Given the description of an element on the screen output the (x, y) to click on. 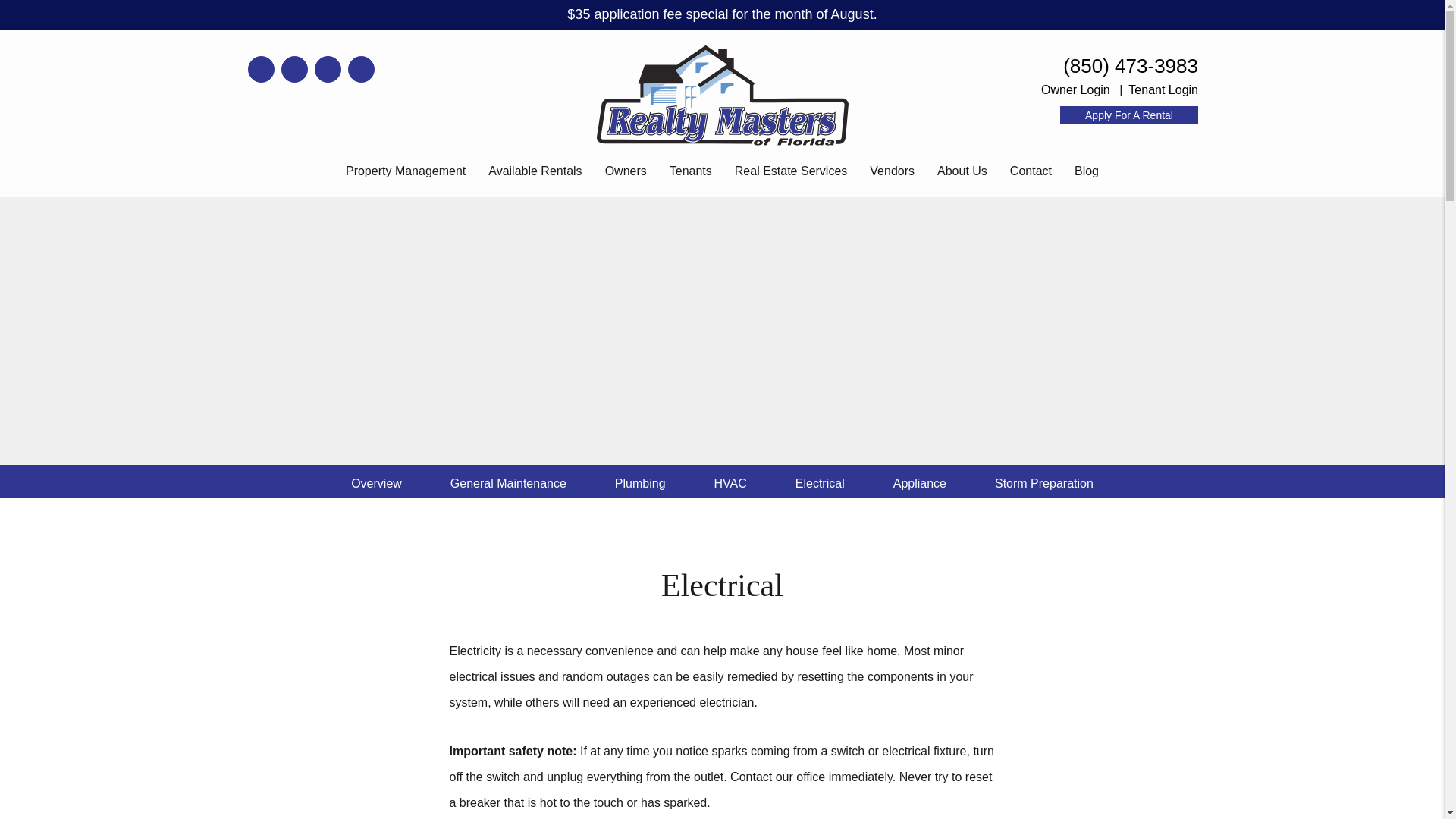
Owners (625, 174)
Youtube (261, 69)
Facebook (327, 69)
Property Management (405, 174)
this link opens in a new tab (1128, 115)
Instagram (294, 69)
Available Rentals (533, 174)
this link opens in a new tab (1075, 89)
Owner Login (1075, 89)
About Us (962, 174)
